Given the description of an element on the screen output the (x, y) to click on. 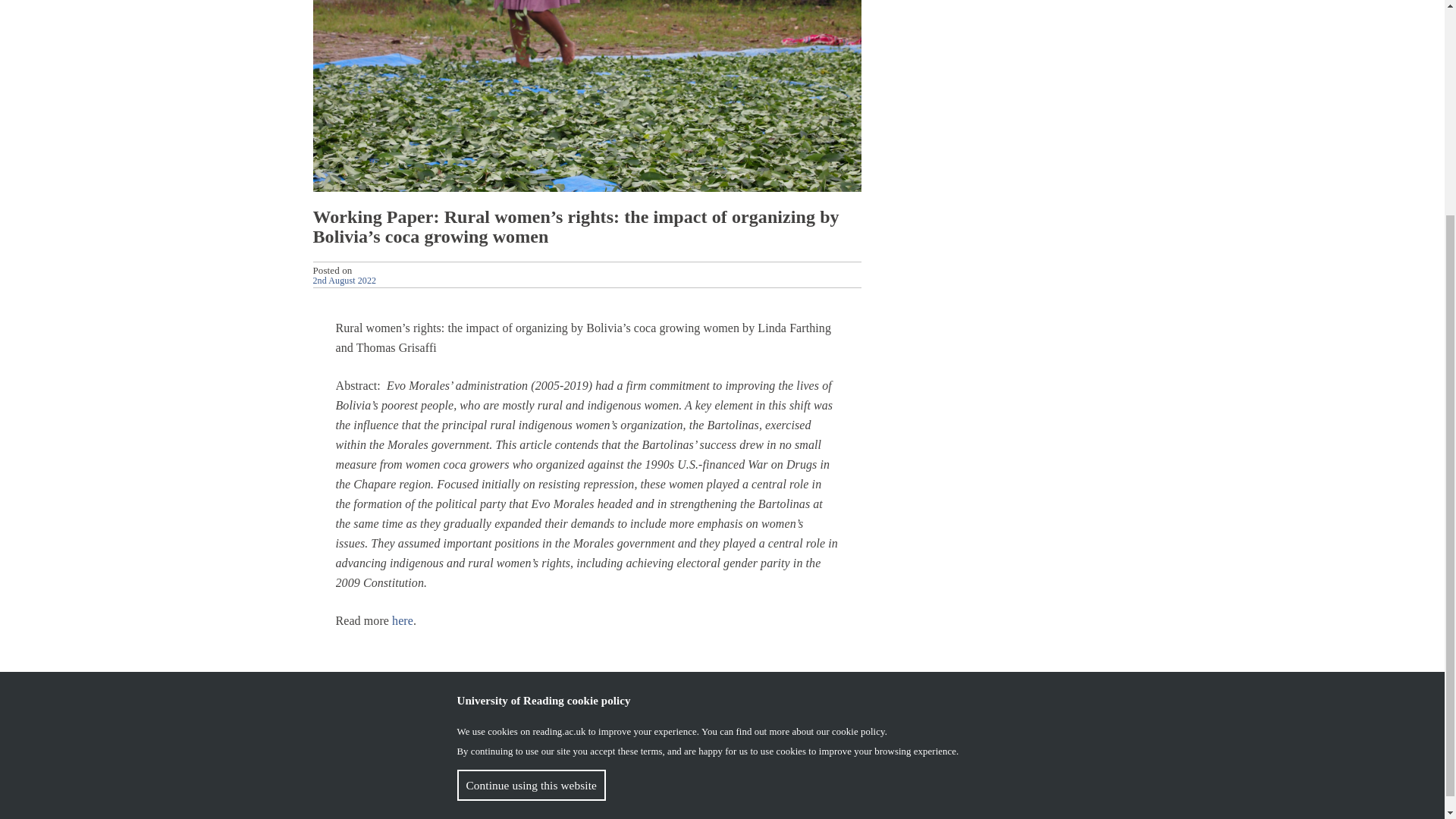
YouTube (1065, 798)
cookie policy (858, 443)
Twitter (1123, 798)
Email (411, 700)
Mastodon (380, 700)
Continue using this website (531, 496)
here (402, 620)
Facebook (349, 700)
2nd August 2022 (344, 279)
Instagram (1094, 798)
